Given the description of an element on the screen output the (x, y) to click on. 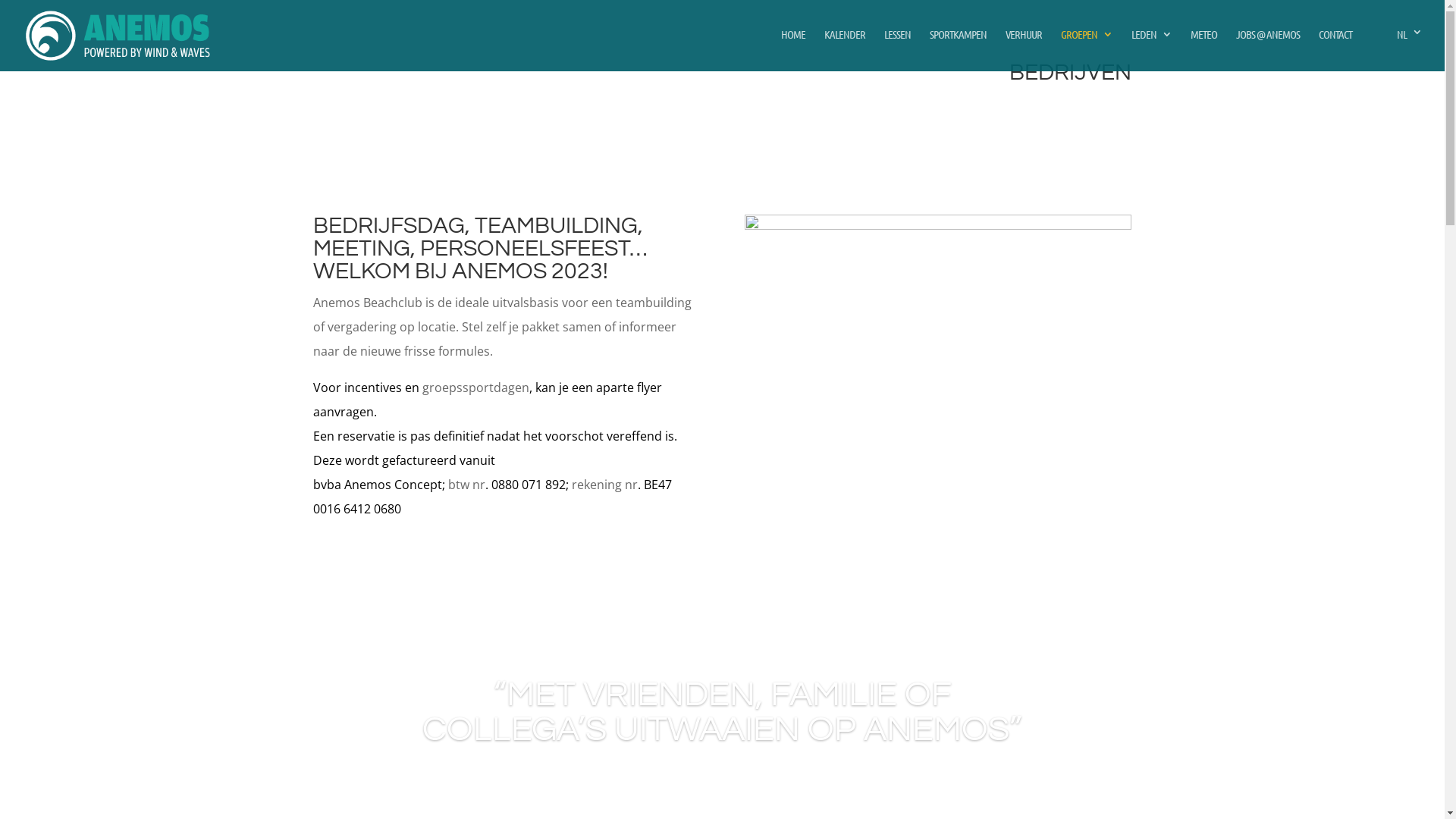
VERHUUR Element type: text (1023, 46)
LESSEN Element type: text (897, 46)
NL Element type: text (1396, 48)
JOBS @ ANEMOS Element type: text (1267, 46)
GROEPEN Element type: text (1086, 46)
groepp Element type: hover (937, 224)
SPORTKAMPEN Element type: text (957, 46)
KALENDER Element type: text (844, 46)
LEDEN Element type: text (1151, 46)
HOME Element type: text (793, 46)
METEO Element type: text (1203, 46)
CONTACT Element type: text (1335, 46)
